Given the description of an element on the screen output the (x, y) to click on. 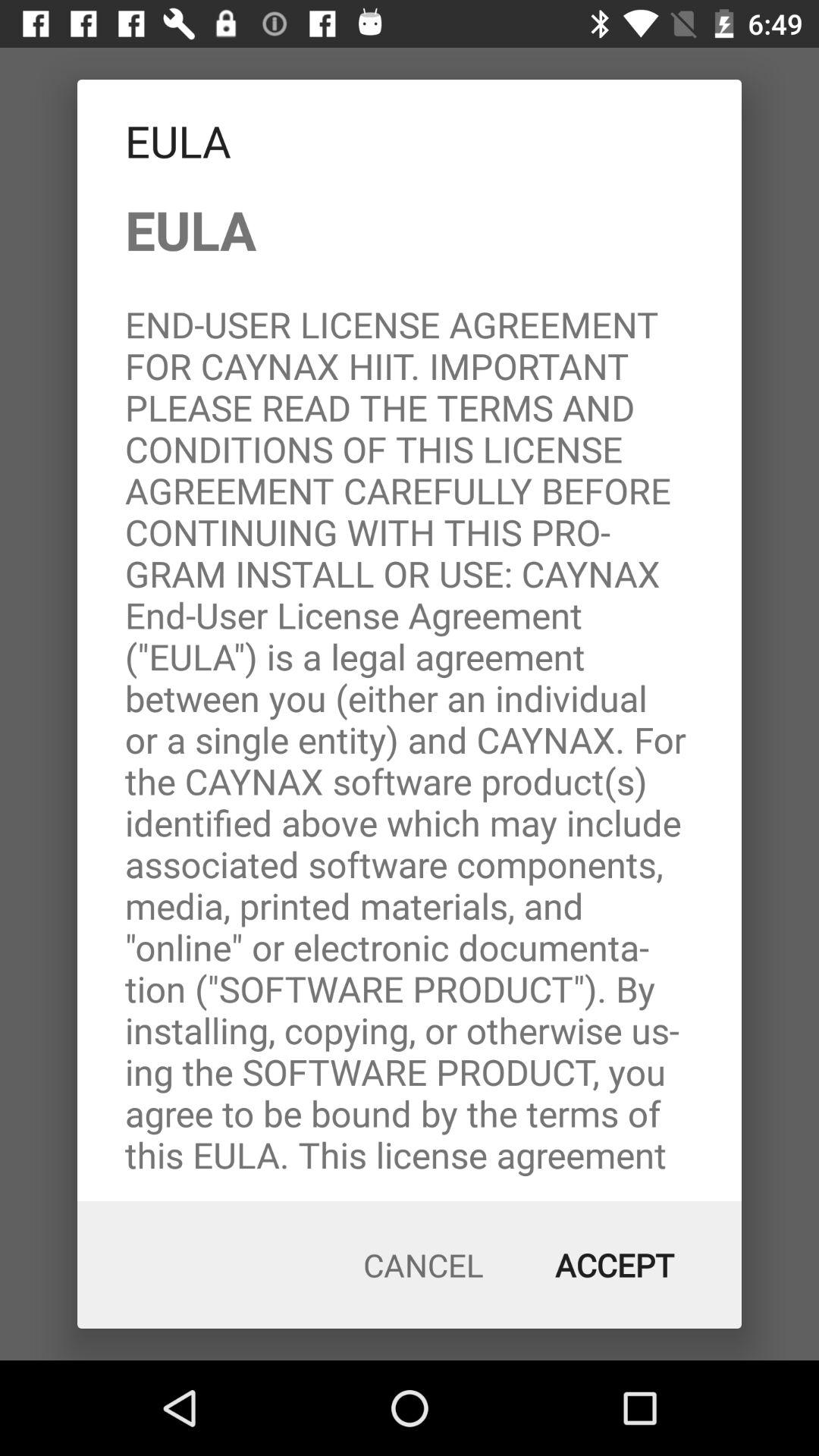
flip to cancel item (422, 1264)
